Given the description of an element on the screen output the (x, y) to click on. 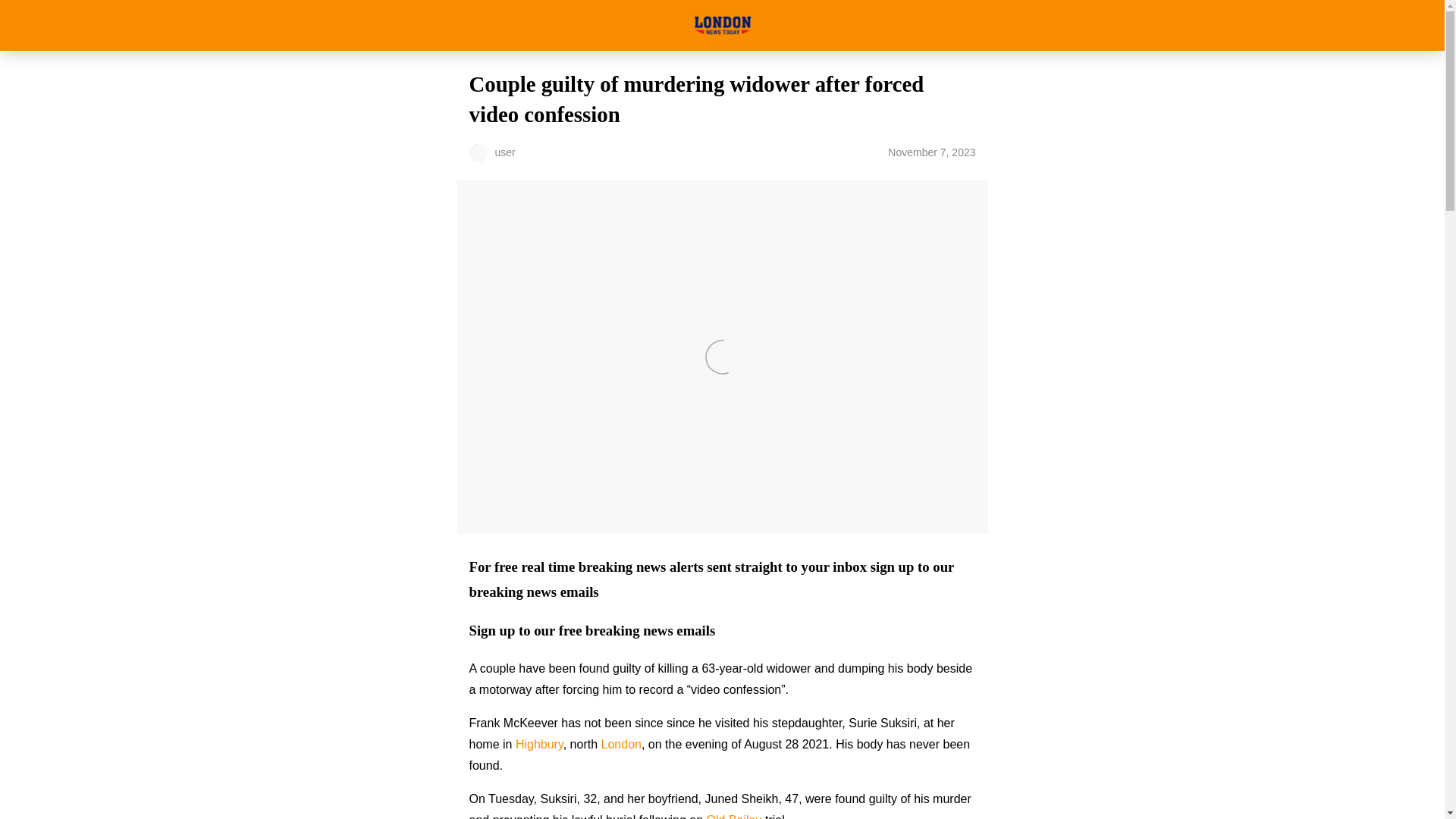
Londonnewstime.com (721, 25)
Old Bailey (733, 816)
Highbury (539, 744)
London (621, 744)
